Given the description of an element on the screen output the (x, y) to click on. 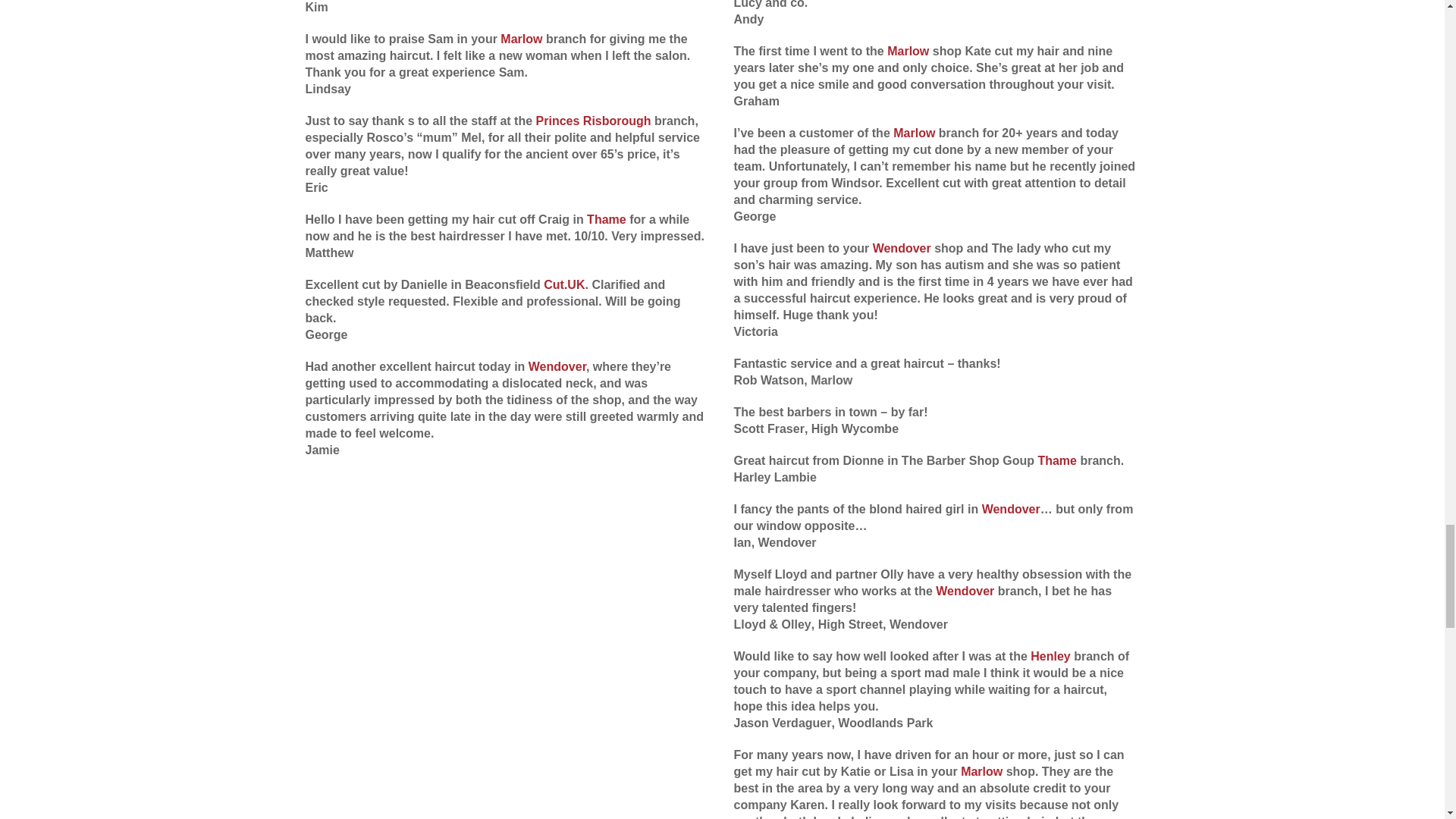
Find out more about The Barber Shop Group's Wendover branch (965, 590)
Find out more about The Barber Shop Group's Wendover branch (901, 247)
Find out more about The Barber Shop Group's Thame branch (1056, 460)
Find out more about The Barber Shop Group's Henley branch (1050, 656)
Find out more about The Barber Shop Group's Wendover branch (1011, 508)
